Given the description of an element on the screen output the (x, y) to click on. 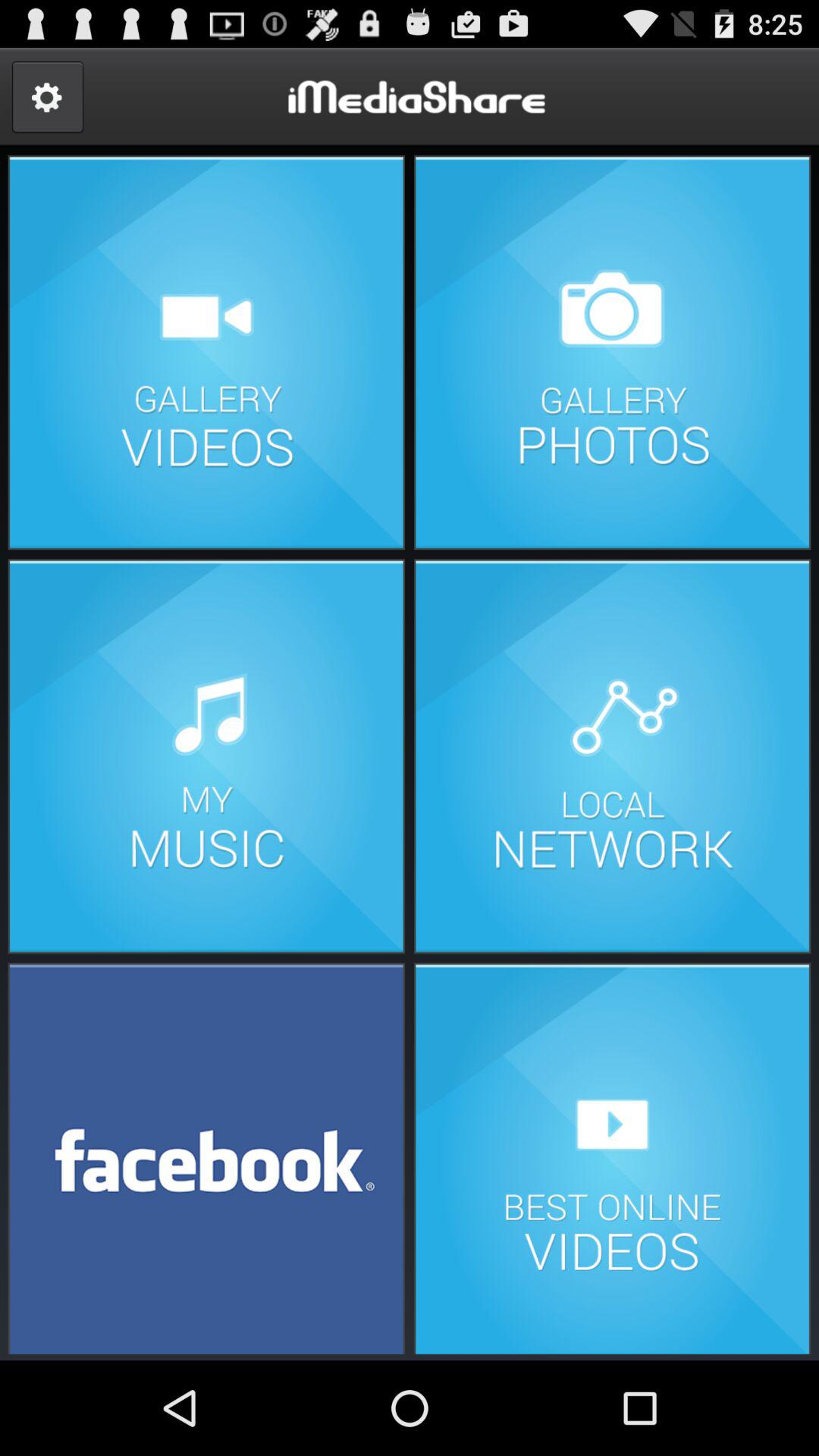
go to settings (47, 97)
